Given the description of an element on the screen output the (x, y) to click on. 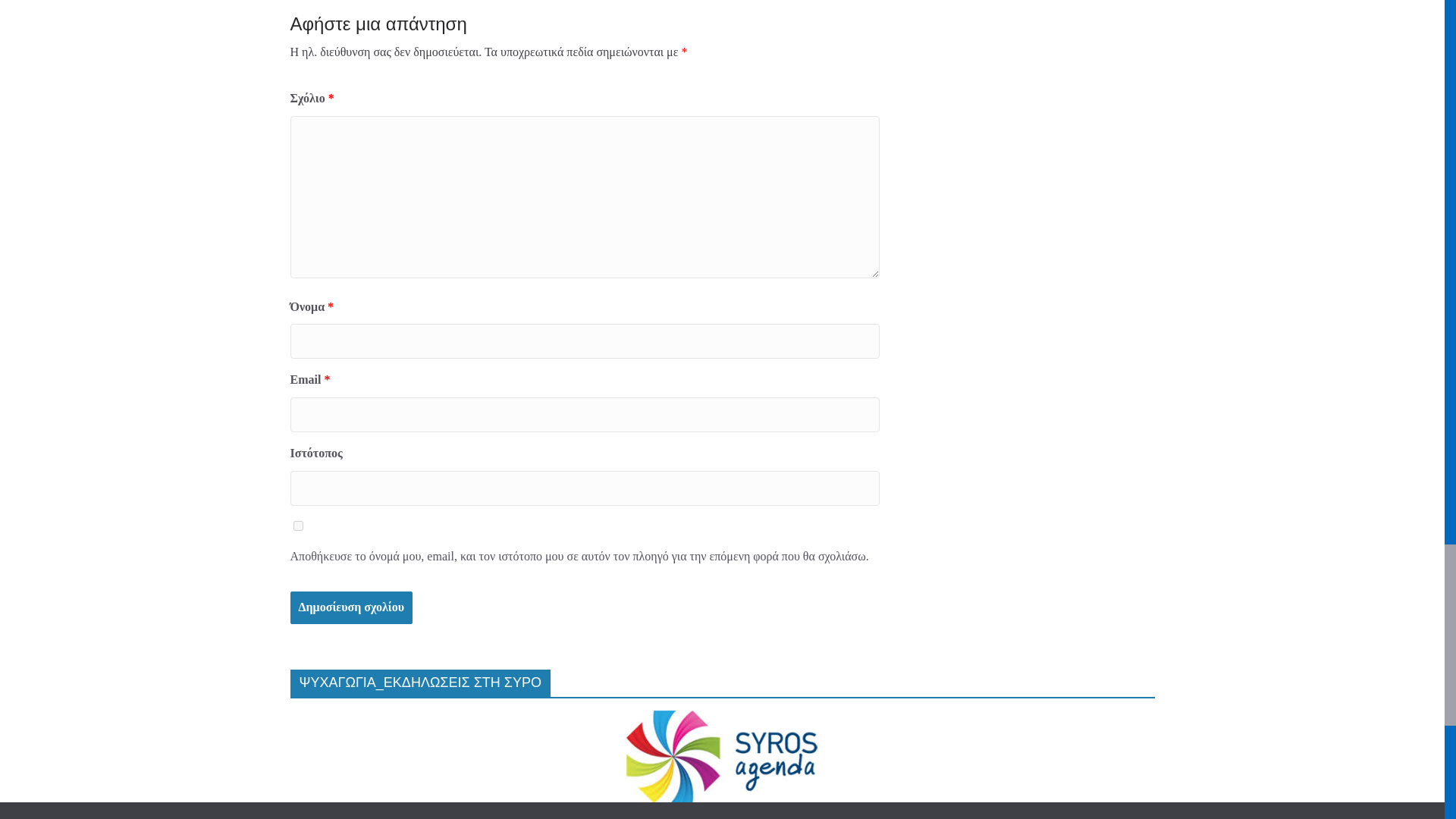
yes (297, 525)
